Given the description of an element on the screen output the (x, y) to click on. 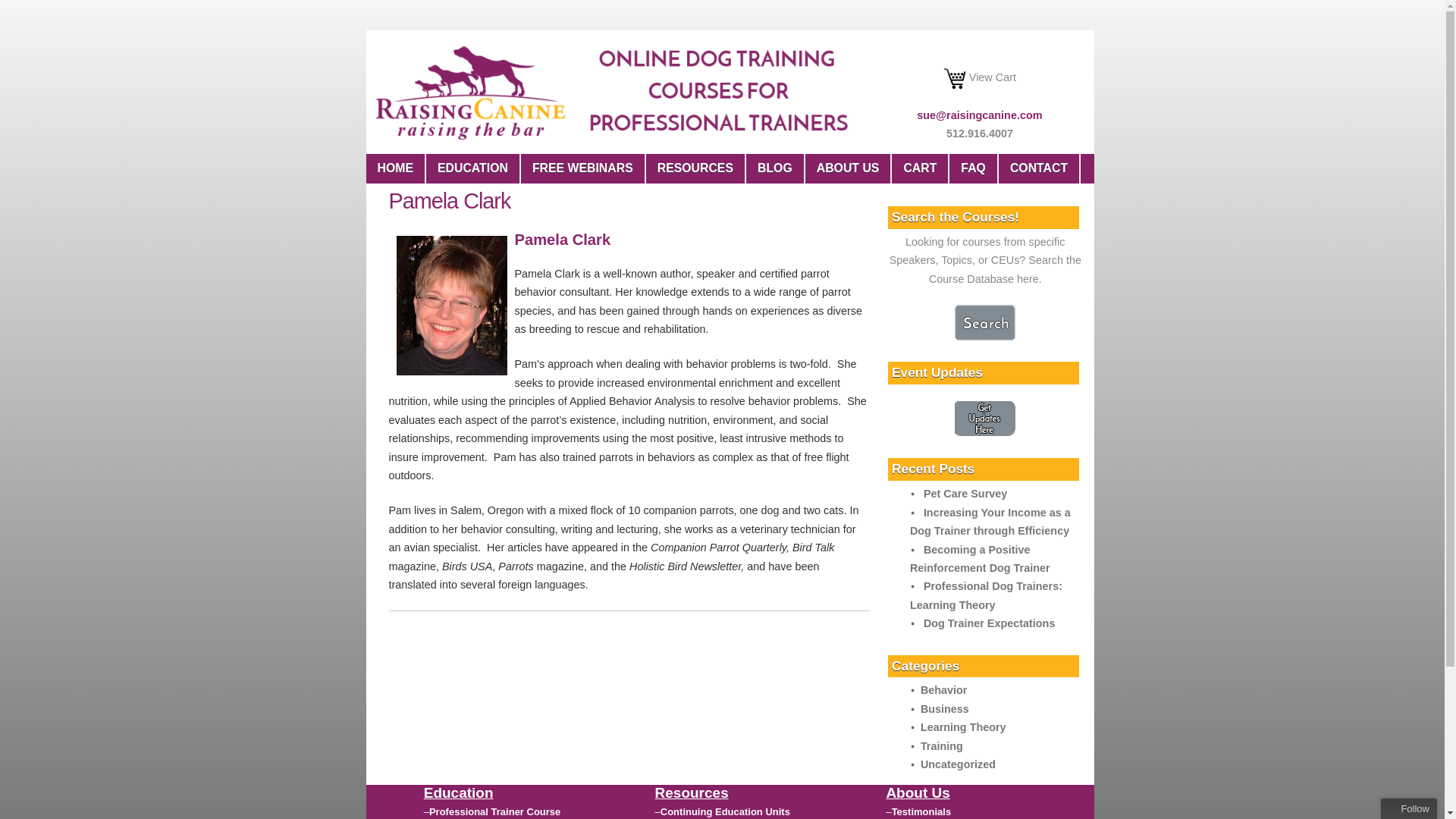
Pet Care Survey (965, 493)
Training (941, 746)
CONTACT (1039, 168)
Increasing Your Income as a Dog Trainer through Efficiency (990, 521)
ABOUT US (848, 168)
CART (920, 168)
FAQ (973, 168)
BLOG (775, 168)
Dog Trainer Expectations (989, 623)
EDUCATION (472, 168)
